Given the description of an element on the screen output the (x, y) to click on. 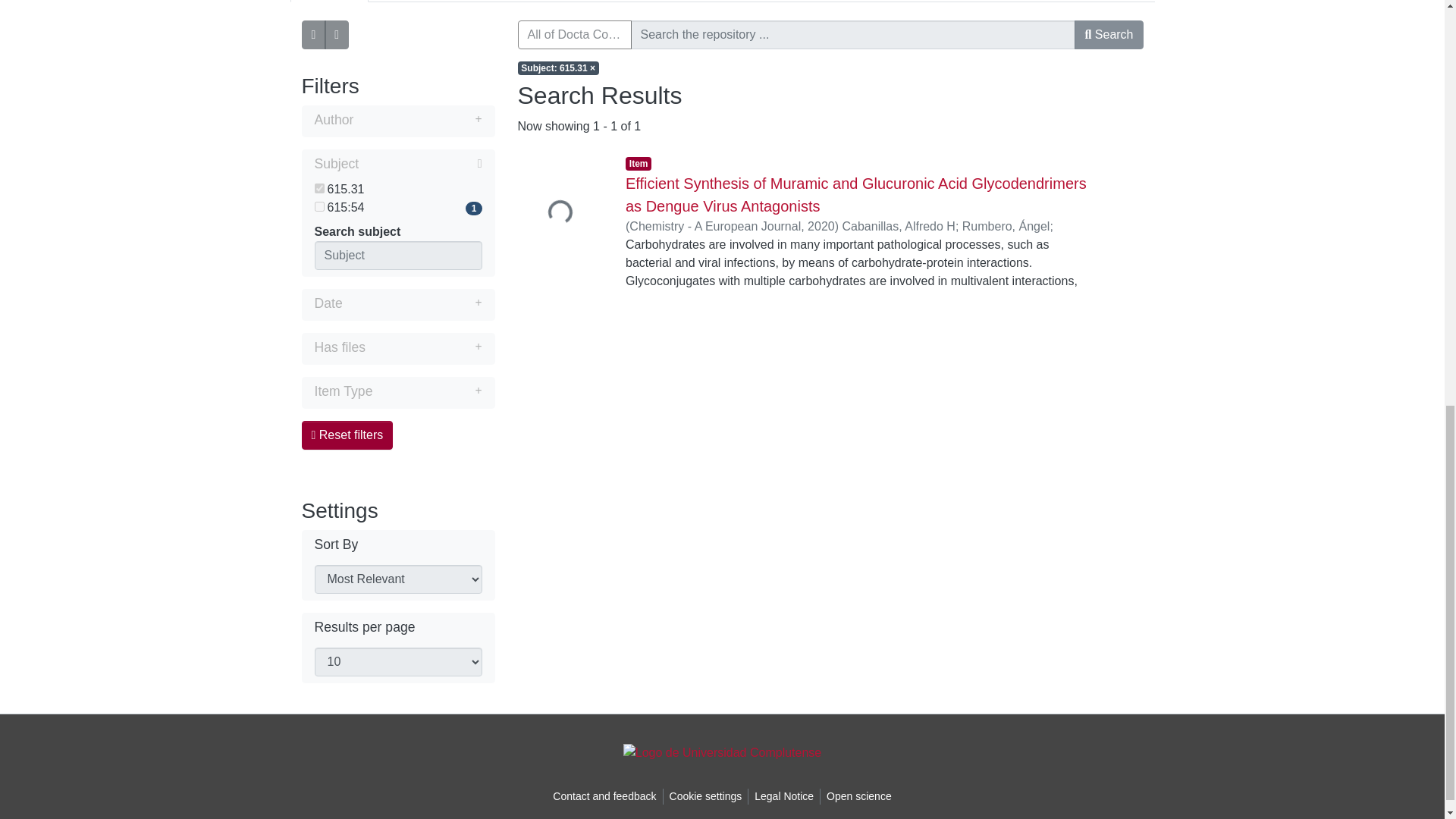
Author (397, 121)
Expand filter (417, 119)
Expand filter (426, 391)
As Advisor (409, 1)
As Author (328, 1)
Expand filter (423, 347)
Expand filter (411, 303)
Collapse filter (419, 163)
on (318, 188)
As Editor (488, 1)
on (318, 206)
